Given the description of an element on the screen output the (x, y) to click on. 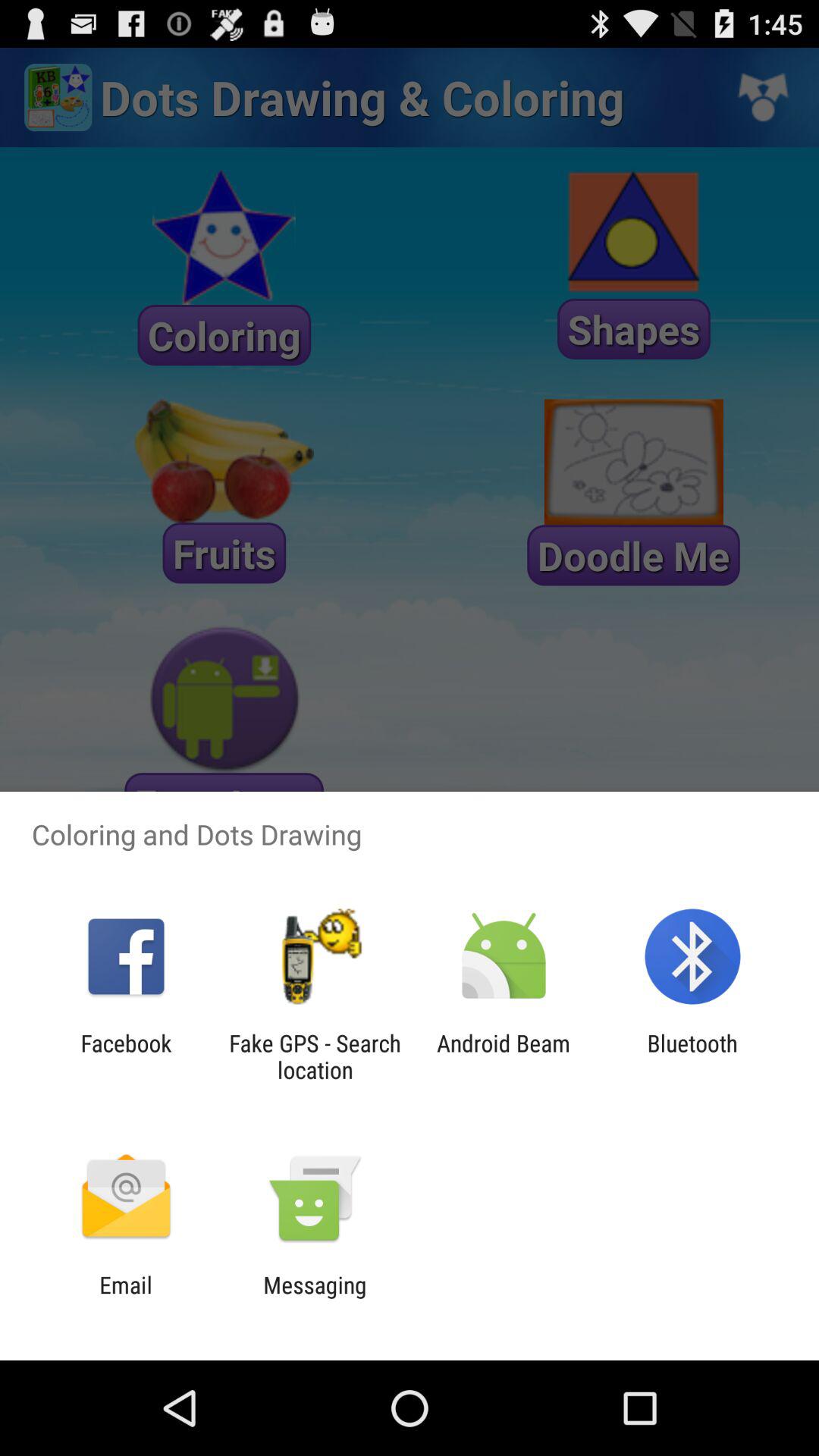
choose the bluetooth icon (692, 1056)
